Given the description of an element on the screen output the (x, y) to click on. 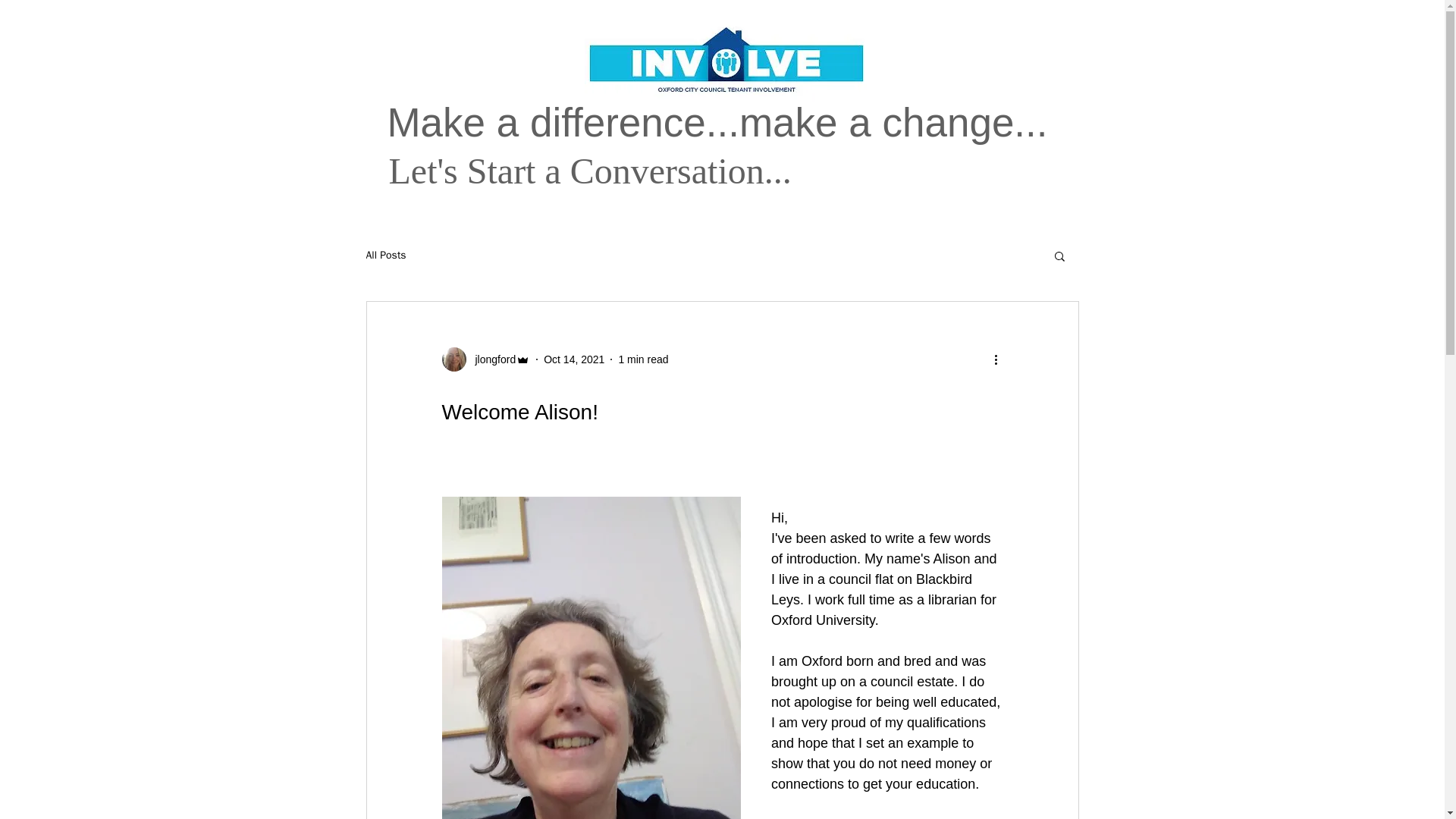
All Posts (385, 255)
1 min read (642, 358)
jlongford (490, 359)
Oct 14, 2021 (573, 358)
jlongford (485, 359)
